Given the description of an element on the screen output the (x, y) to click on. 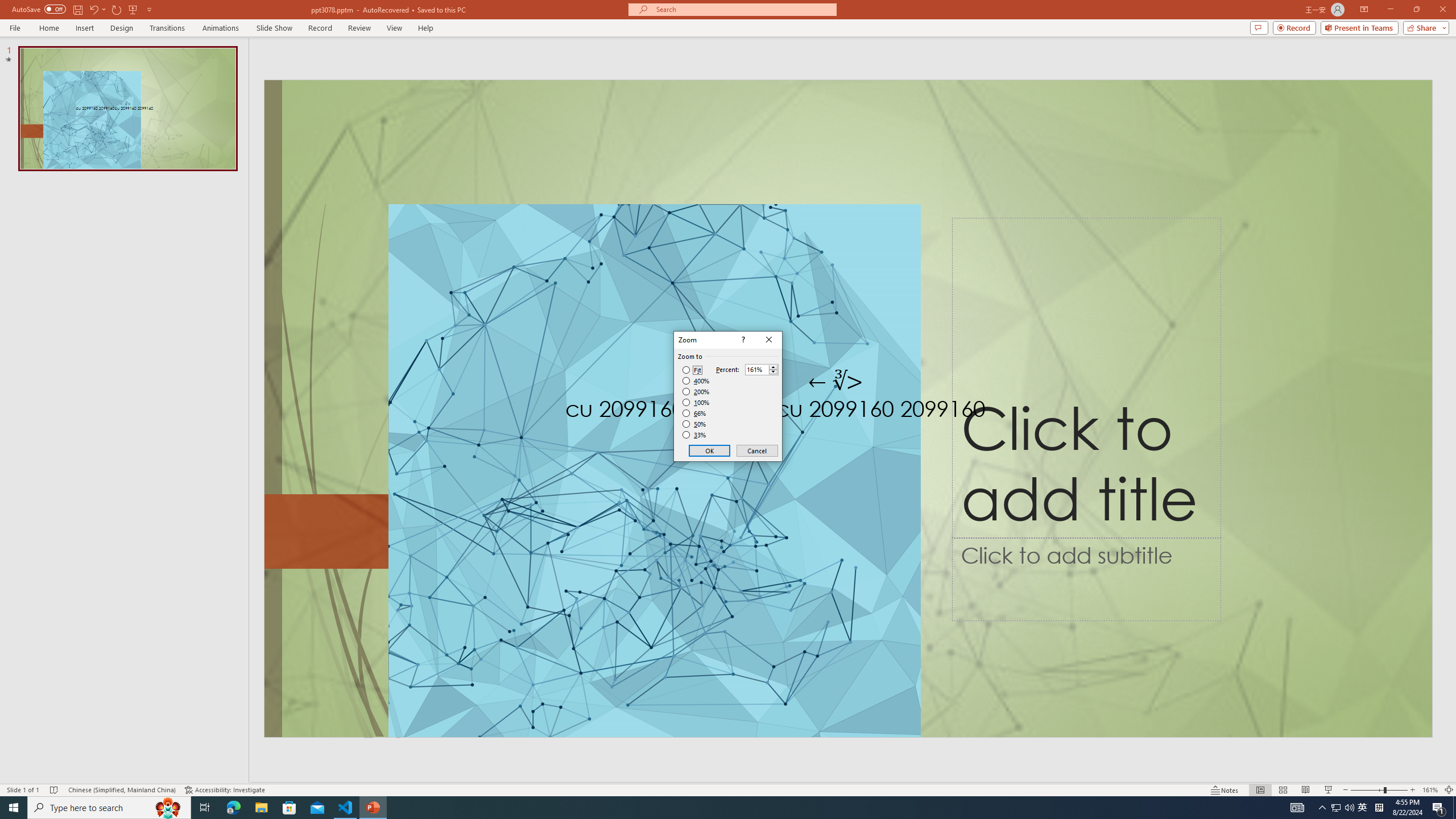
Action Center, 1 new notification (1439, 807)
Fit (691, 370)
